Given the description of an element on the screen output the (x, y) to click on. 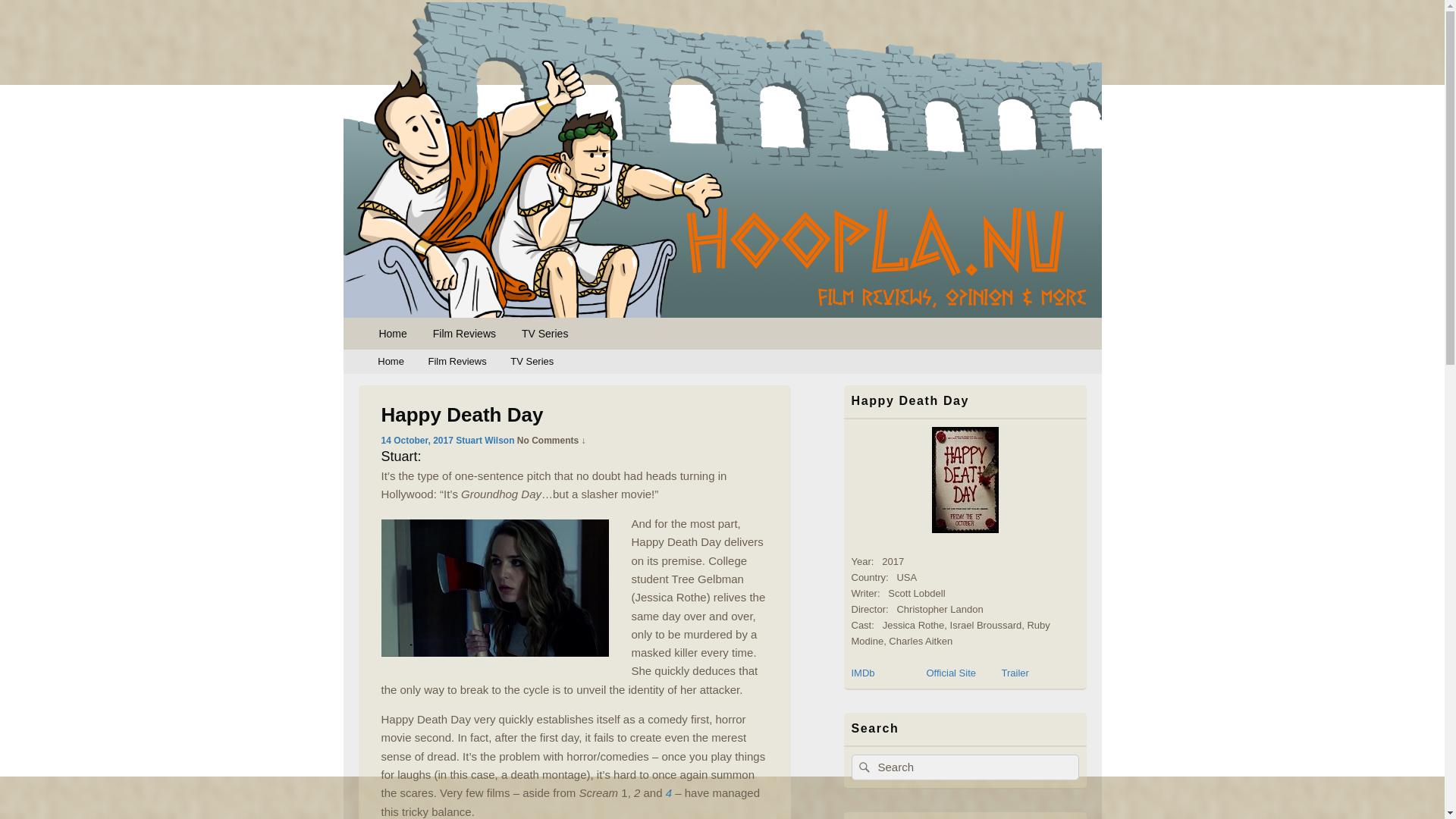
Film Reviews (464, 333)
14 October, 2017 (416, 439)
TV Series (544, 333)
Home (392, 333)
Film Reviews (457, 361)
7:56 pm (416, 439)
View all posts by Stuart Wilson (484, 439)
TV Series (531, 361)
Stuart Wilson (484, 439)
hoopla.nu (407, 334)
hoopla.nu (407, 334)
Home (389, 361)
